Given the description of an element on the screen output the (x, y) to click on. 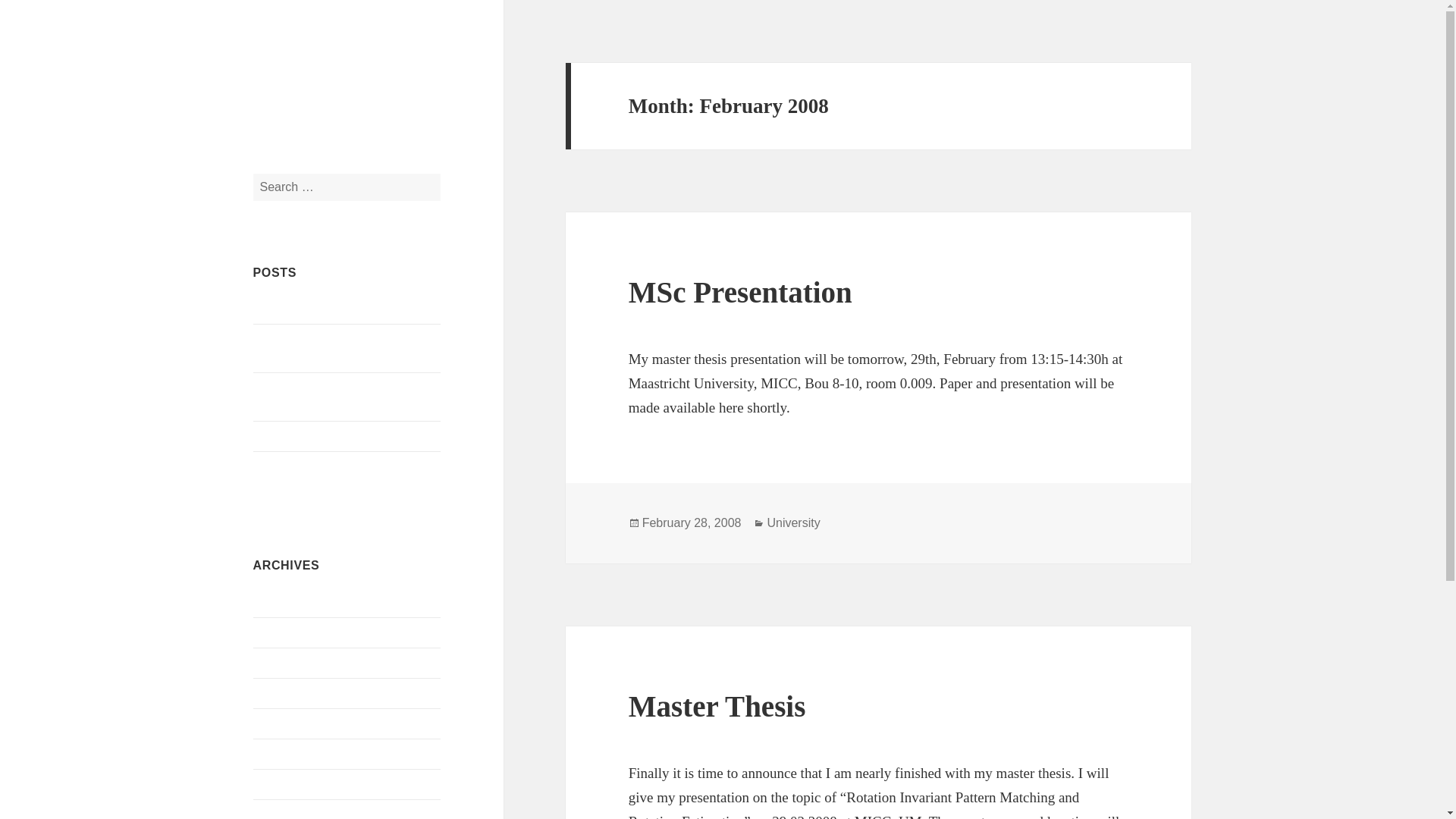
MSc Presentation (739, 292)
awbsworld.de (286, 308)
University (793, 522)
January 2012 (285, 783)
March 2012 (283, 753)
February 2013 (288, 662)
February 28, 2008 (691, 522)
Running 2013 (287, 436)
January 2015 (285, 601)
